Given the description of an element on the screen output the (x, y) to click on. 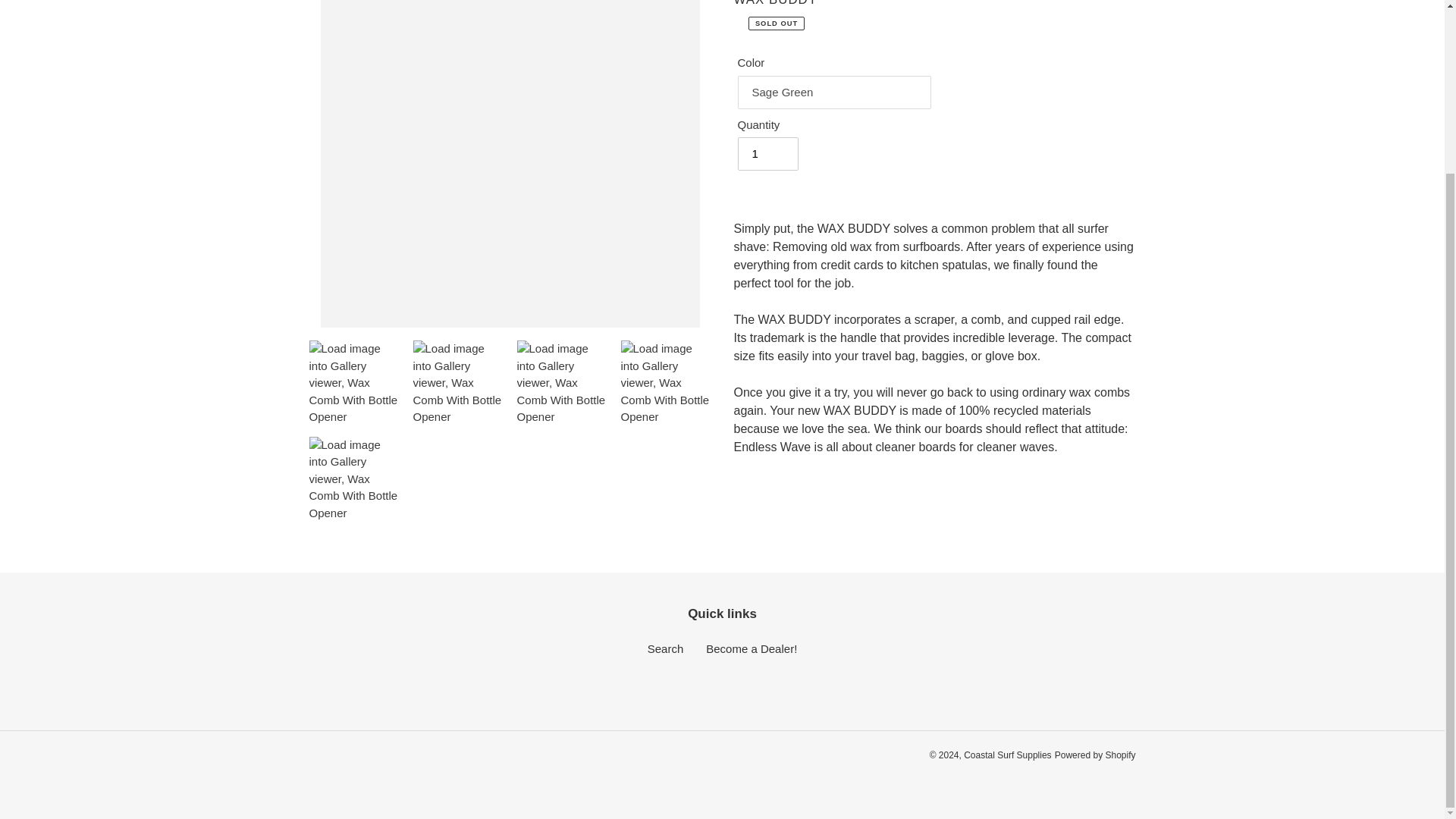
1 (766, 153)
